Given the description of an element on the screen output the (x, y) to click on. 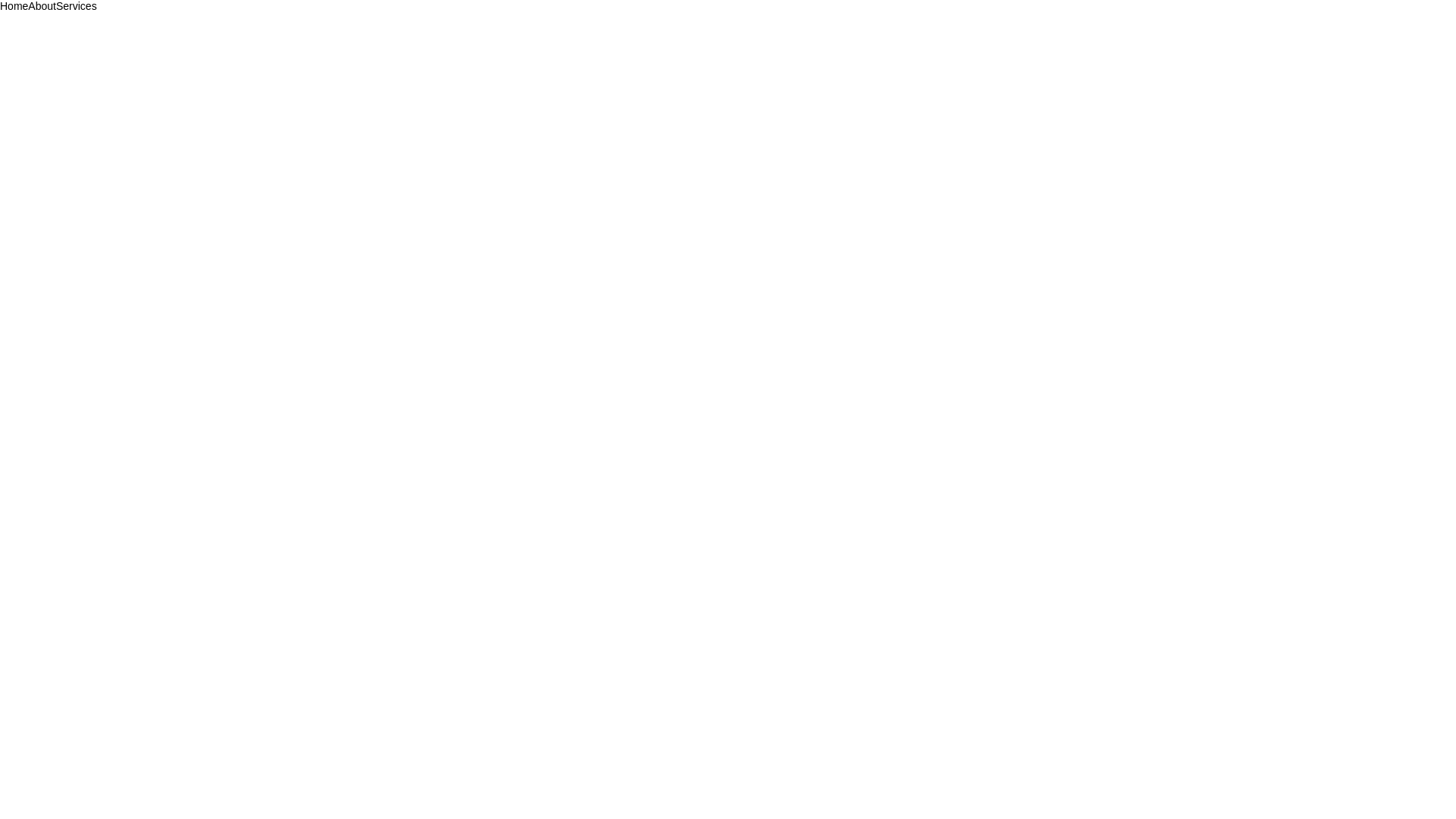
Home Element type: text (14, 6)
About Element type: text (42, 6)
Services Element type: text (76, 6)
